Given the description of an element on the screen output the (x, y) to click on. 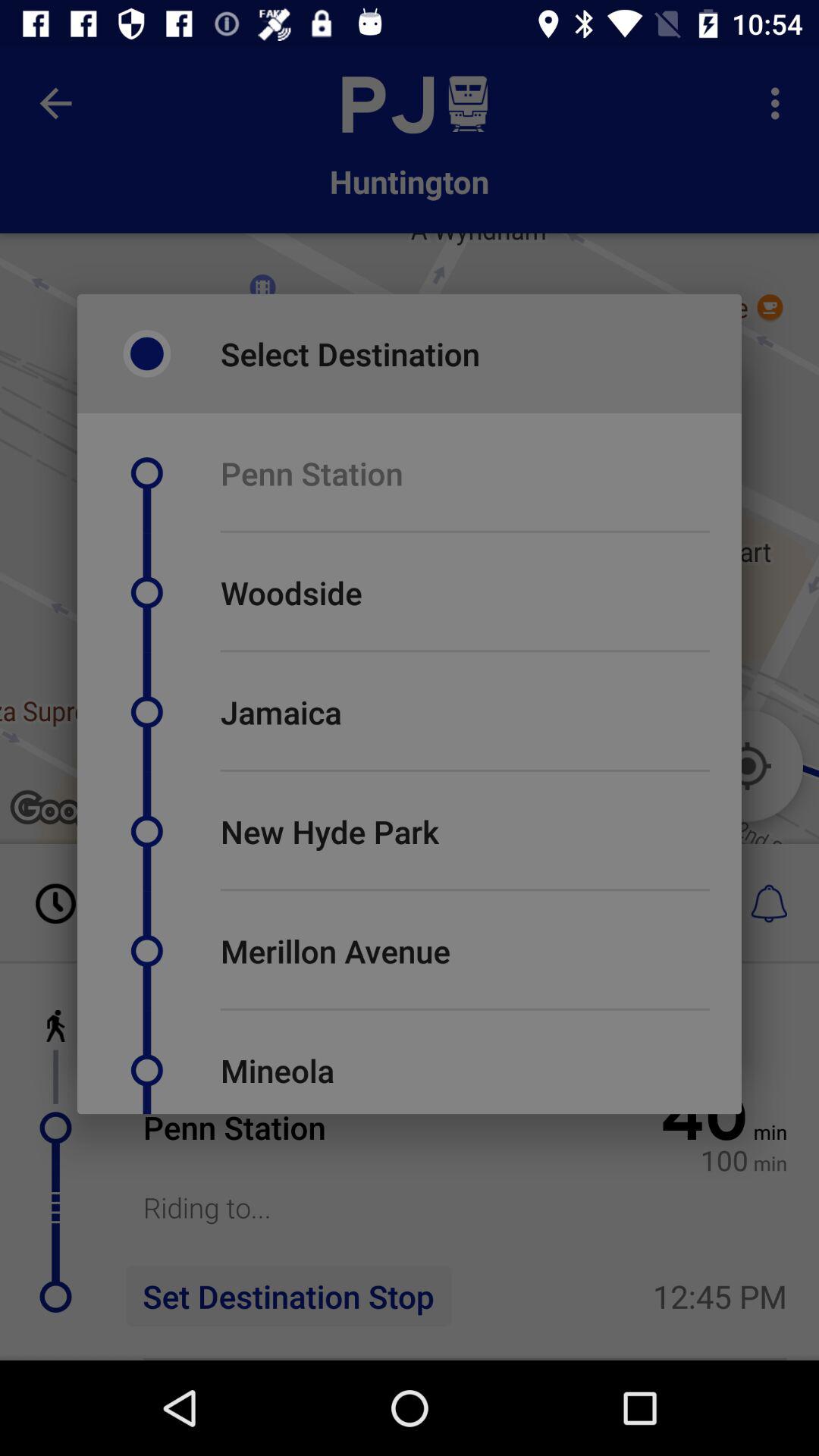
press the jamaica (280, 711)
